Given the description of an element on the screen output the (x, y) to click on. 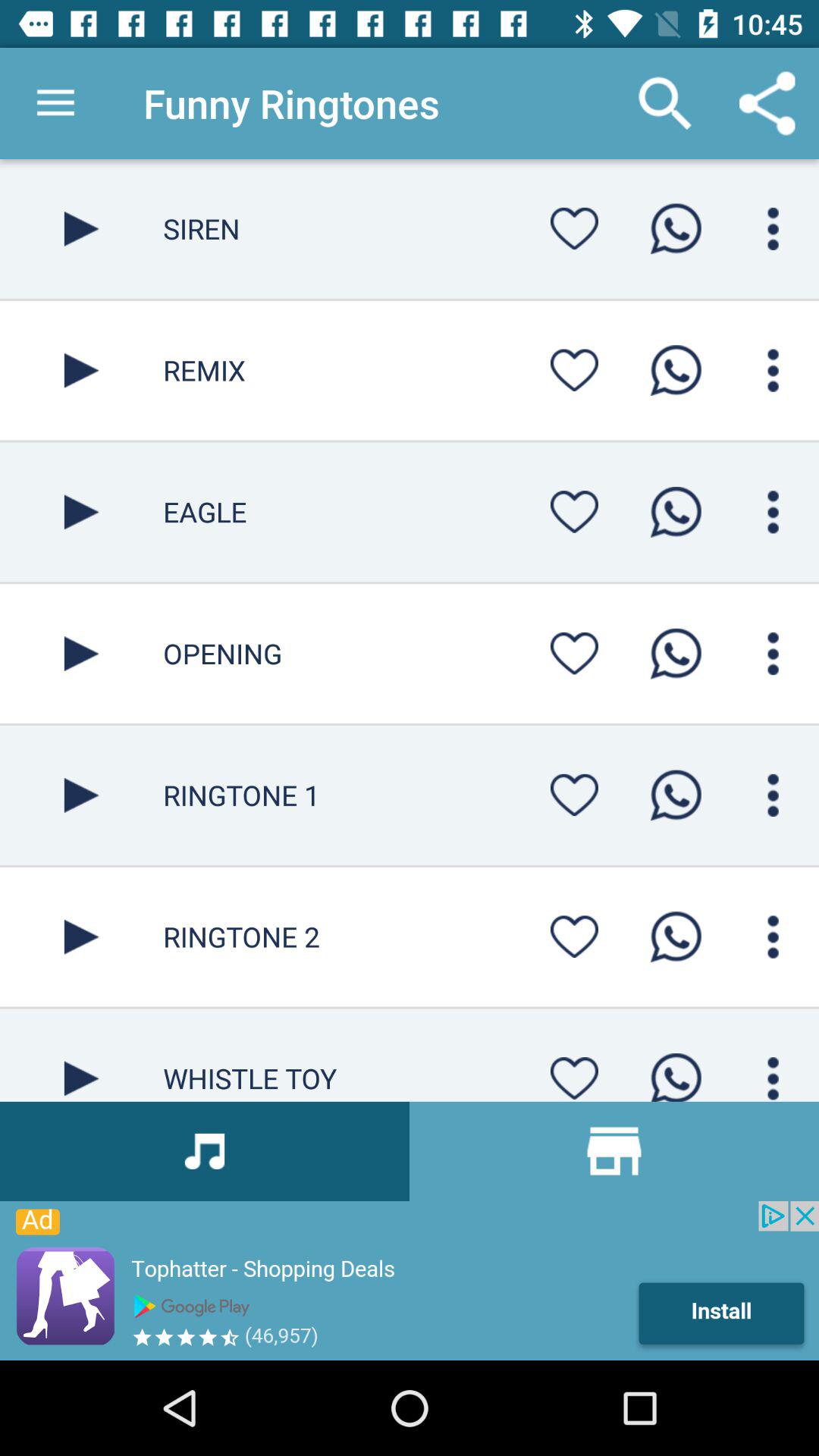
control button (773, 511)
